Given the description of an element on the screen output the (x, y) to click on. 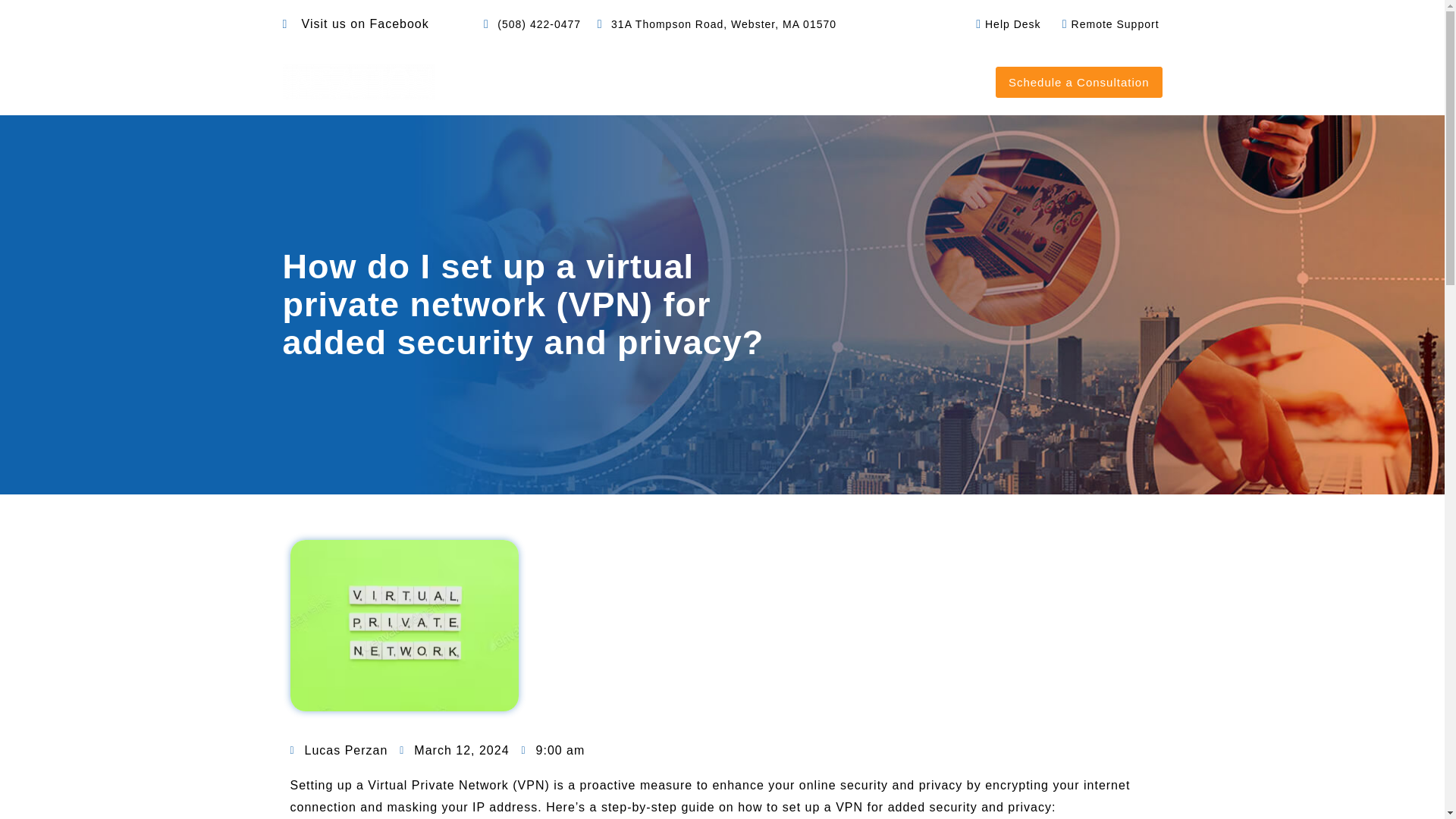
Visit us on Facebook (355, 24)
Schedule a Consultation (1078, 81)
Remote Support (1105, 24)
Services (663, 81)
Home (501, 81)
Blog (887, 81)
Contact (951, 81)
Industries Served (786, 81)
31A Thompson Road, Webster, MA 01570 (713, 24)
Help Desk (1003, 24)
